Given the description of an element on the screen output the (x, y) to click on. 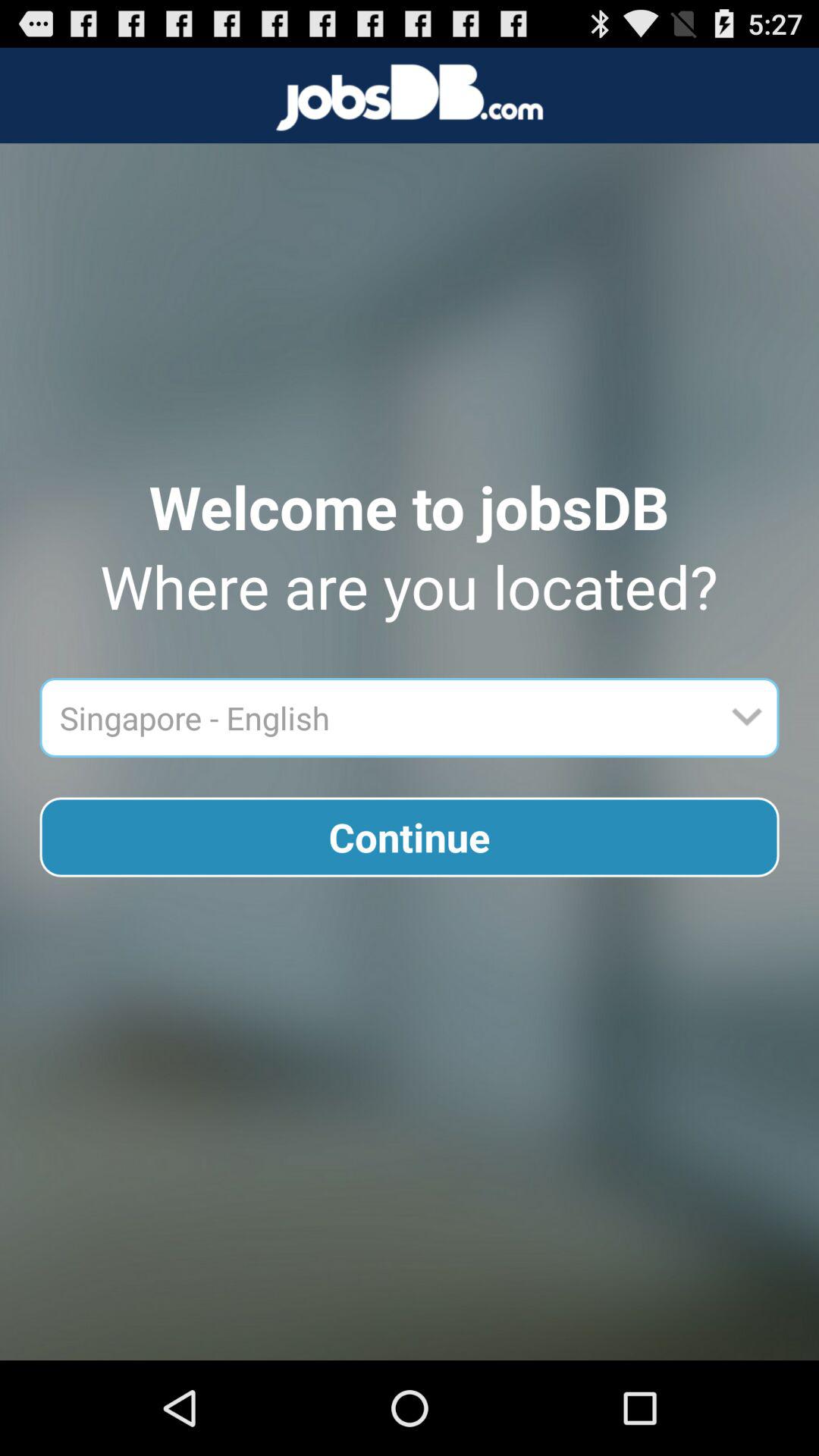
open icon below singapore - english (409, 837)
